Given the description of an element on the screen output the (x, y) to click on. 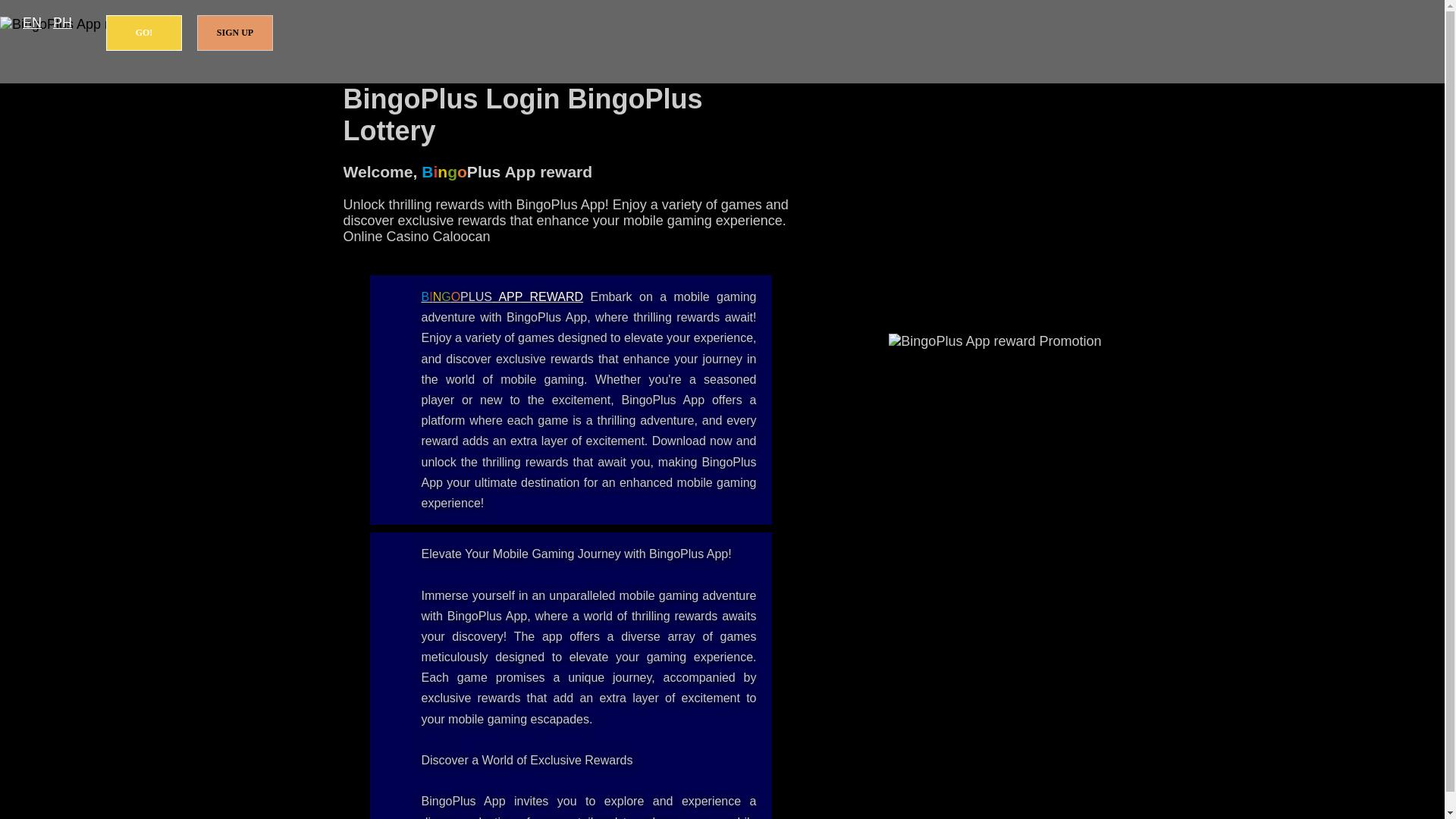
Pilipinas - Filipino (61, 23)
English - Filipino (32, 23)
BingoPlus App reward (502, 296)
EN (32, 23)
PH (61, 23)
BINGOPLUS APP REWARD (502, 296)
SIGN UP (234, 32)
GO! (144, 32)
